Given the description of an element on the screen output the (x, y) to click on. 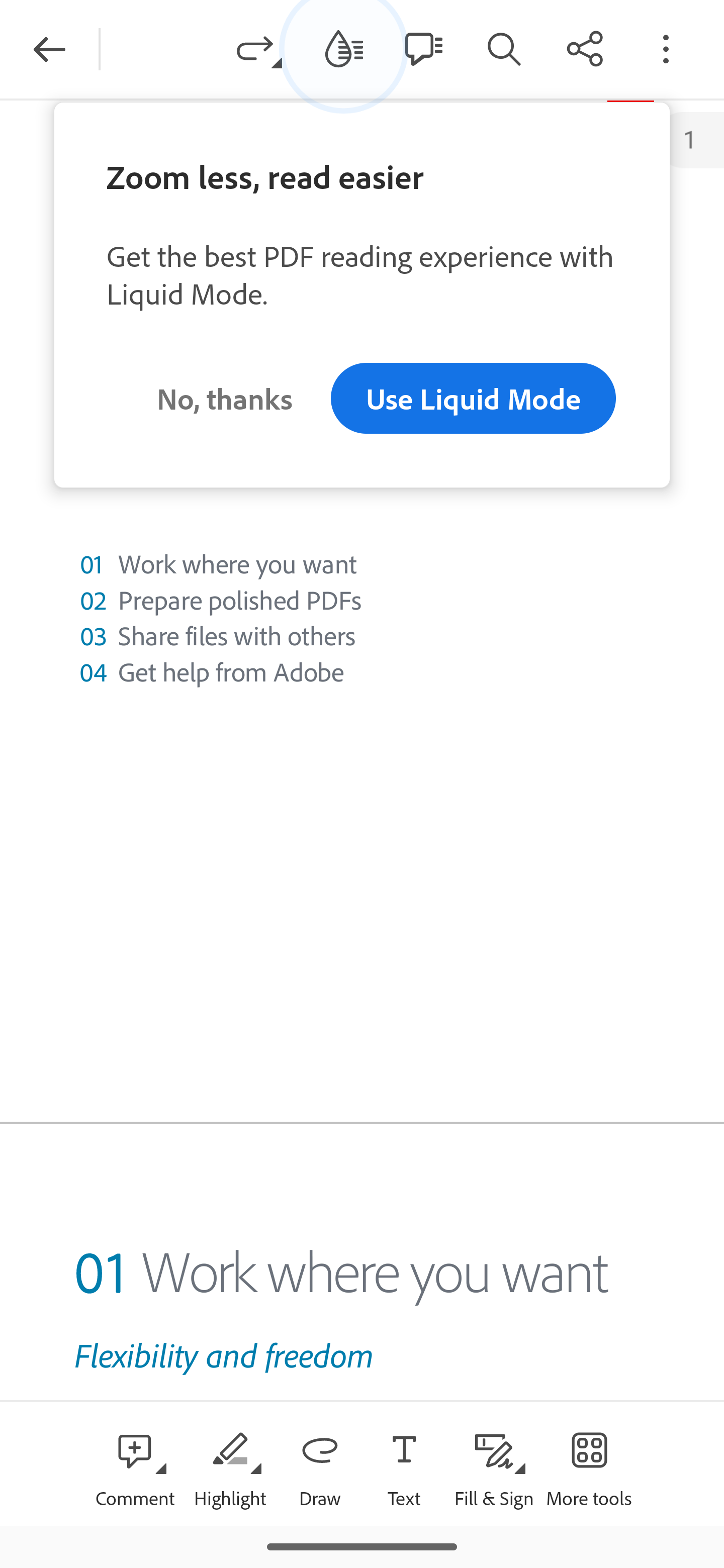
Back (49, 49)
Redo Edit(s) (259, 48)
Turn on Liquid Mode (343, 48)
Find keyword in document (503, 48)
Share this document with others (584, 48)
More options (665, 48)
Comments (423, 48)
Comment (134, 1463)
Highlight (229, 1463)
Draw (319, 1463)
Text (404, 1463)
Fill & Sign (493, 1463)
More tools (588, 1463)
